Given the description of an element on the screen output the (x, y) to click on. 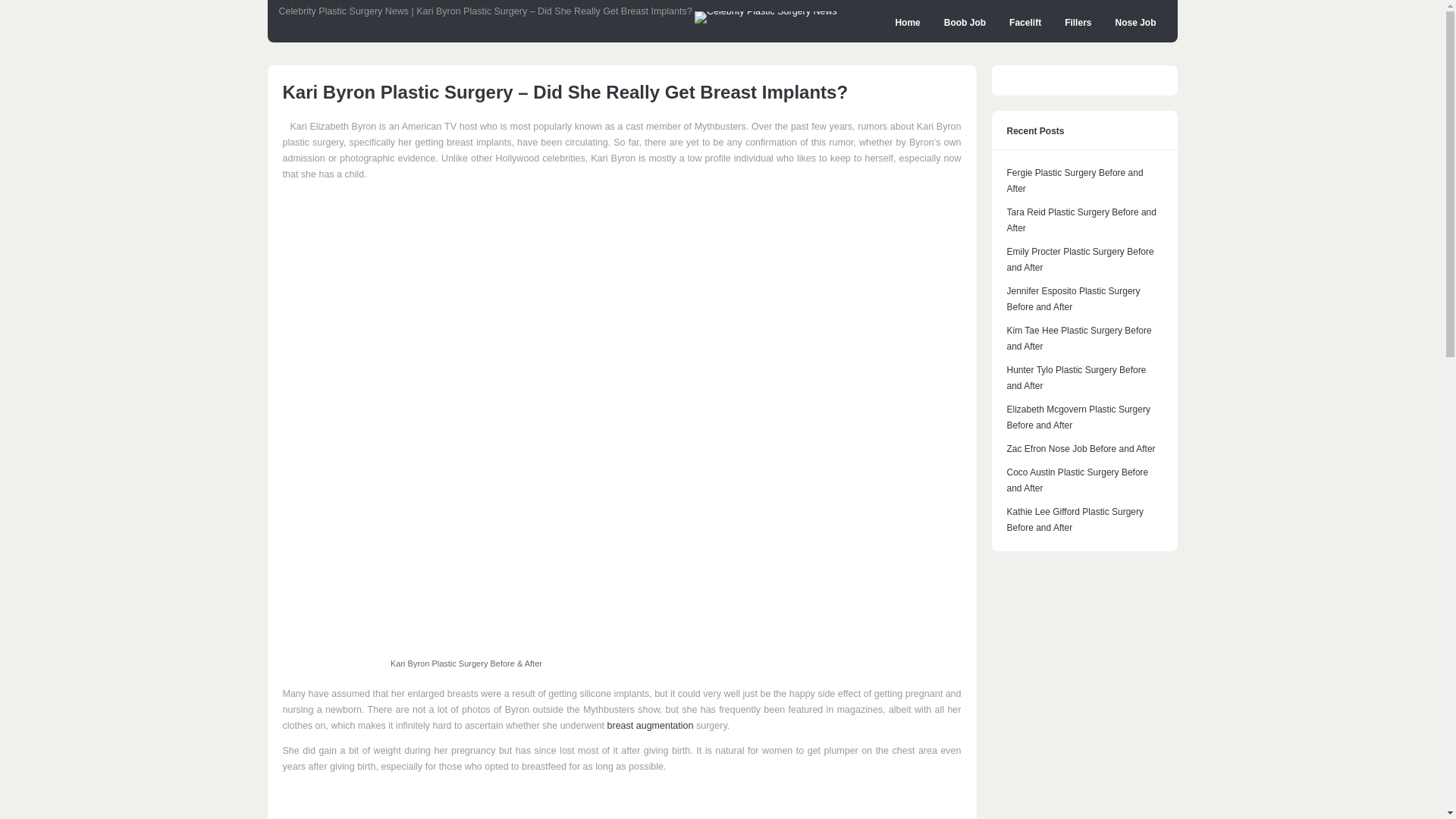
Coco Austin Plastic Surgery Before and After (1077, 479)
Fillers (1077, 22)
Kim Tae Hee Plastic Surgery Before and After (1079, 338)
Zac Efron Nose Job Before and After (1081, 448)
Hunter Tylo Plastic Surgery Before and After (1077, 377)
Nose Job (1135, 22)
Jennifer Esposito Plastic Surgery Before and After (1073, 298)
Facelift (1024, 22)
Emily Procter Plastic Surgery Before and After (1080, 259)
breast augmentation (650, 725)
Elizabeth Mcgovern Plastic Surgery Before and After (1078, 417)
Home (907, 22)
Boob Job (964, 22)
Tara Reid Plastic Surgery Before and After (1081, 220)
Kathie Lee Gifford Plastic Surgery Before and After (1075, 519)
